Given the description of an element on the screen output the (x, y) to click on. 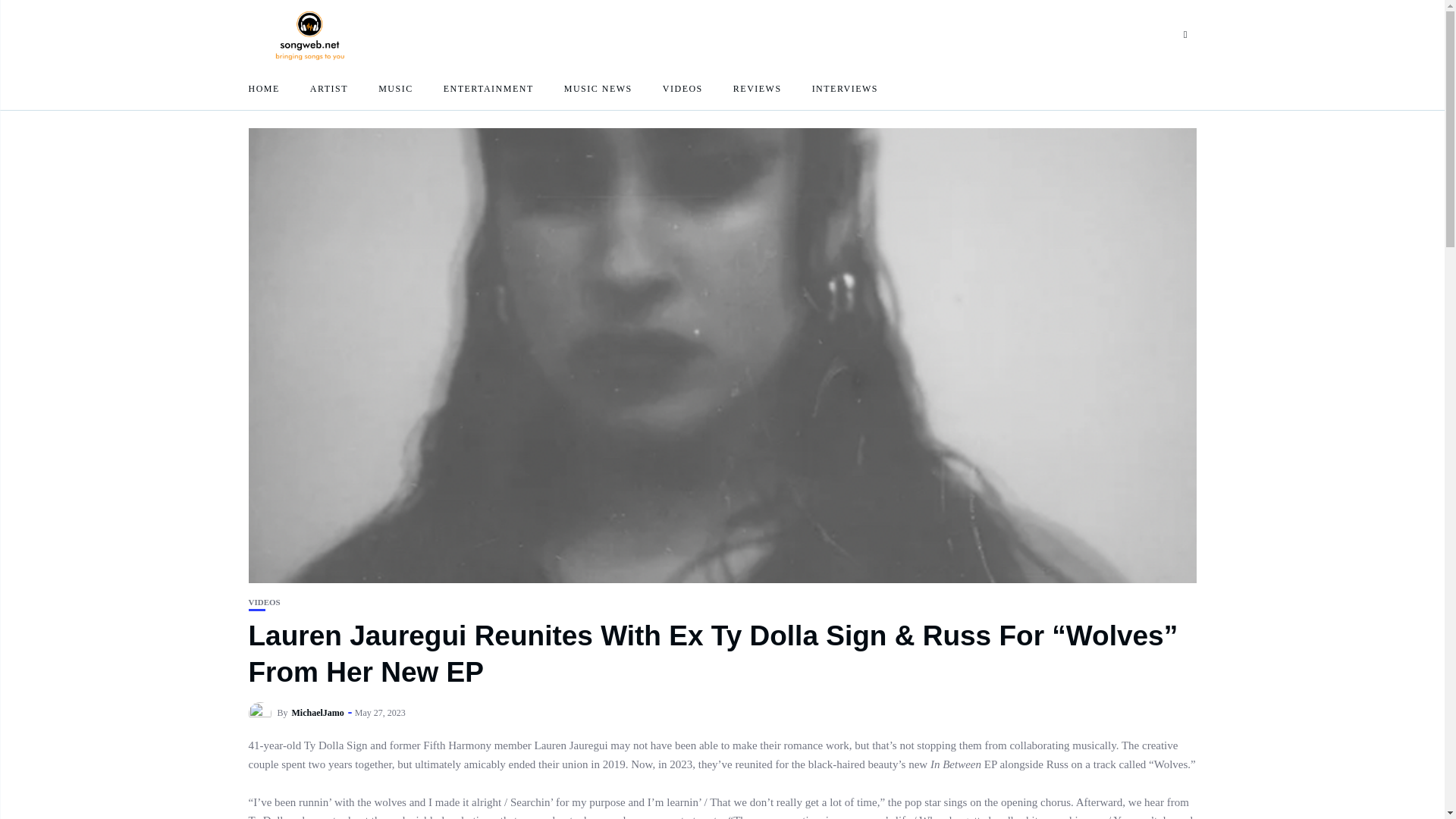
ARTIST (328, 88)
VIDEOS (682, 88)
MUSIC NEWS (597, 88)
VIDEOS (264, 602)
ENTERTAINMENT (489, 88)
Posts by MichaelJamo (317, 712)
MichaelJamo (317, 712)
INTERVIEWS (844, 88)
REVIEWS (757, 88)
